Given the description of an element on the screen output the (x, y) to click on. 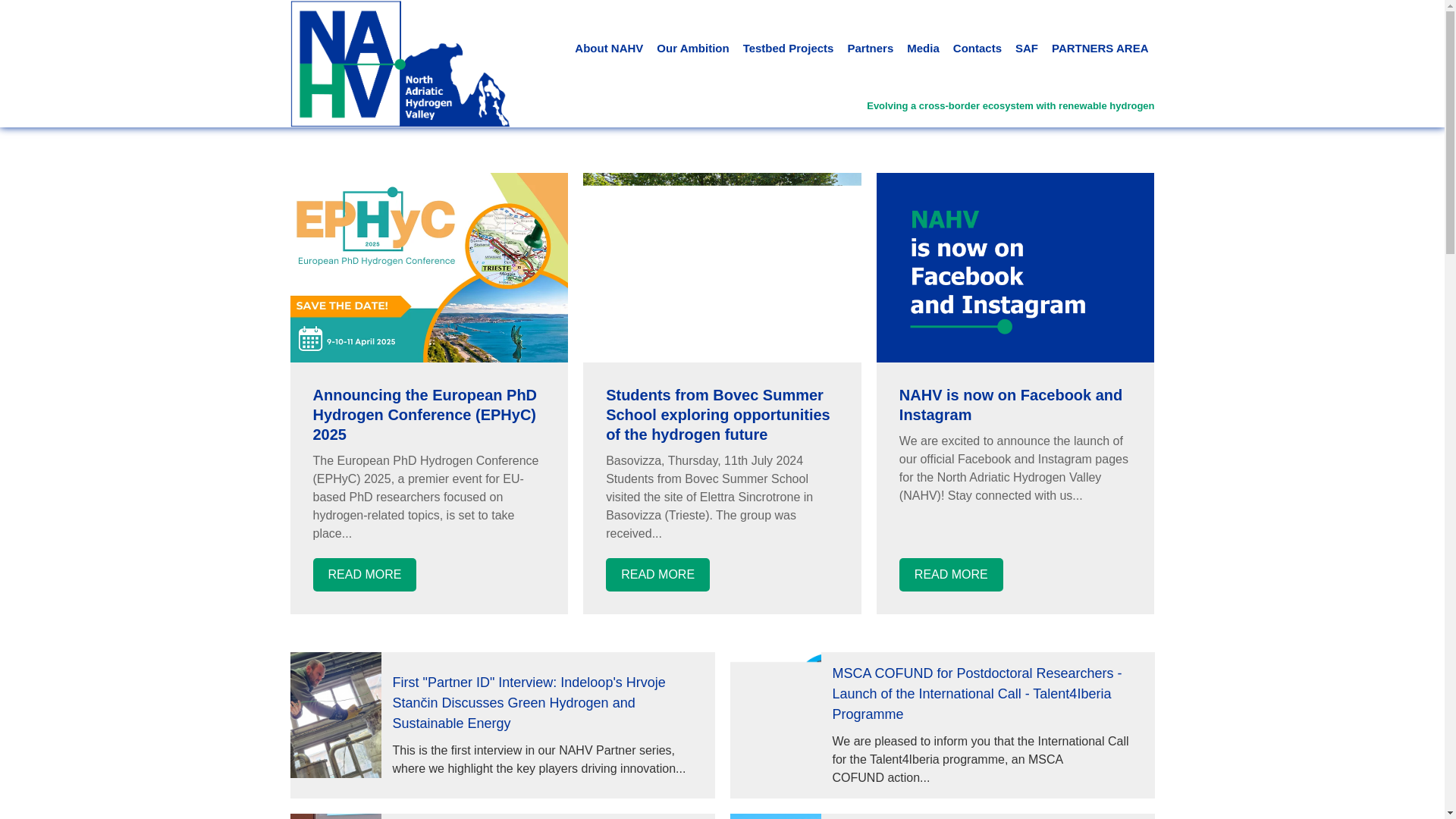
NAHV is now on Facebook and Instagram (1015, 404)
Partners (870, 48)
Media (922, 48)
About NAHV (609, 48)
Testbed Projects (788, 48)
PARTNERS AREA (1099, 48)
READ MORE (364, 574)
